Given the description of an element on the screen output the (x, y) to click on. 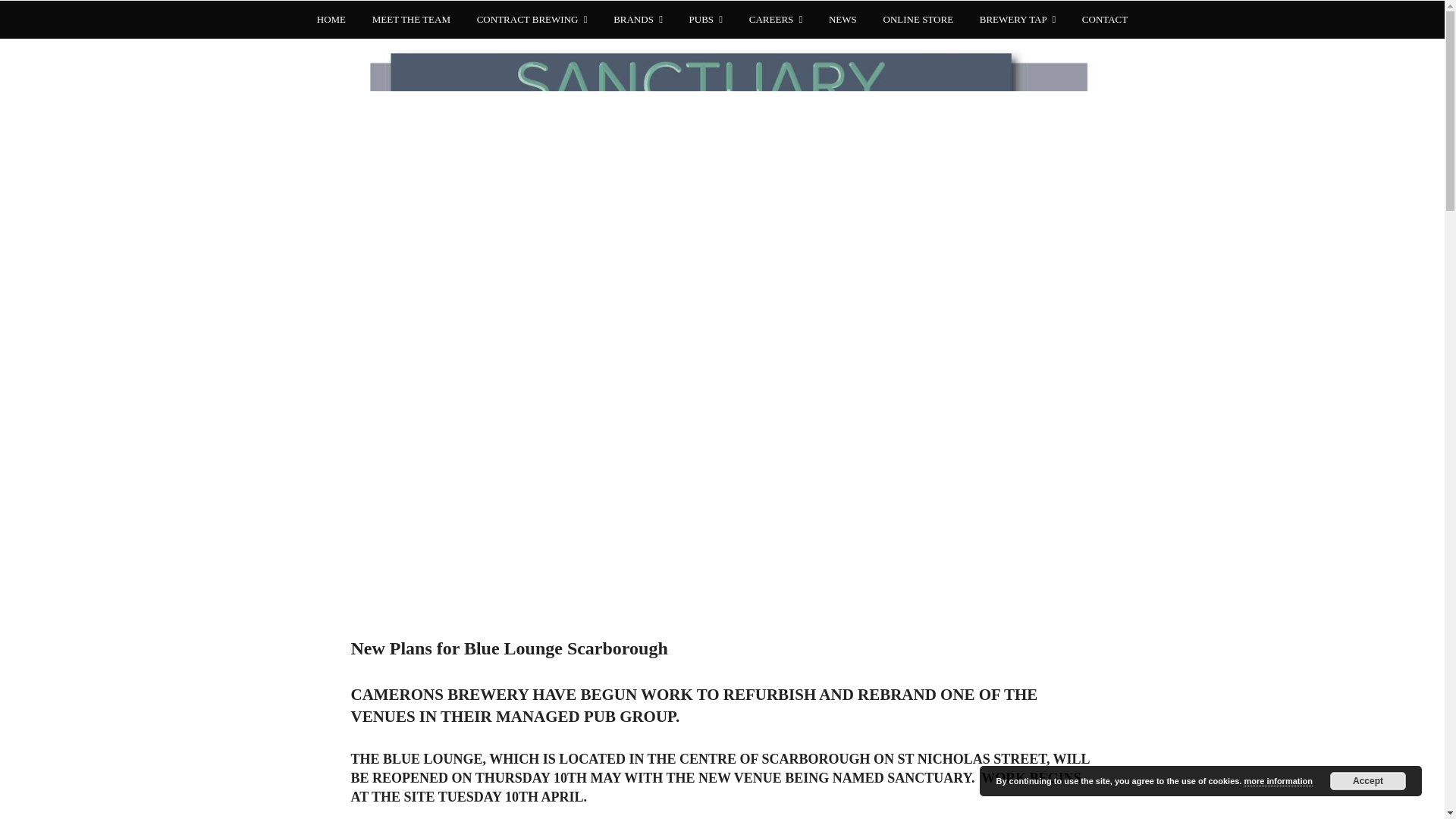
HOME (330, 19)
CAREERS (774, 19)
PUBS (705, 19)
ONLINE STORE (916, 19)
NEWS (842, 19)
MEET THE TEAM (410, 19)
CONTRACT BREWING (531, 19)
BREWERY TAP (1017, 19)
CONTACT (1104, 19)
BRANDS (638, 19)
